Given the description of an element on the screen output the (x, y) to click on. 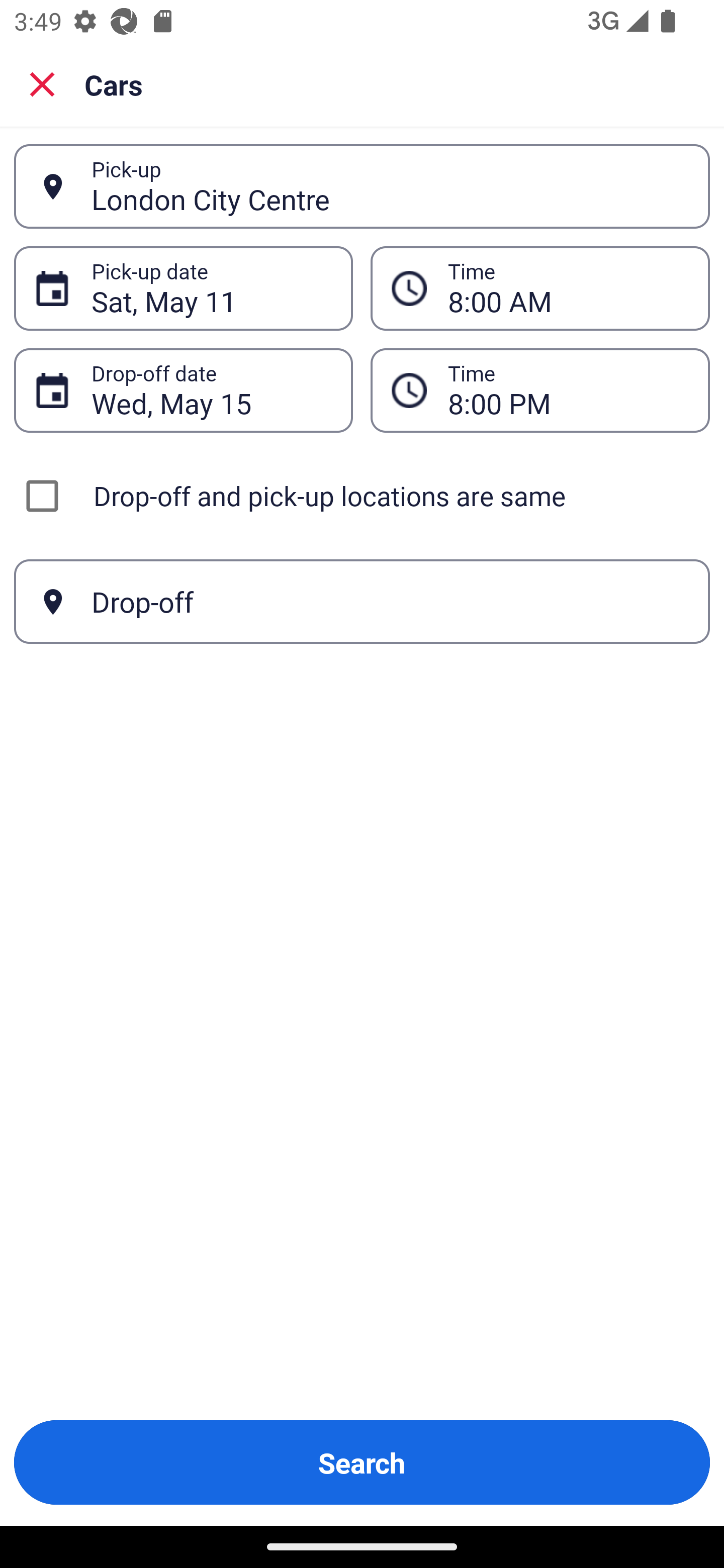
Close search screen (41, 83)
London City Centre Pick-up (361, 186)
London City Centre (389, 186)
Sat, May 11 Pick-up date (183, 288)
8:00 AM (540, 288)
Sat, May 11 (211, 288)
8:00 AM (568, 288)
Wed, May 15 Drop-off date (183, 390)
8:00 PM (540, 390)
Wed, May 15 (211, 390)
8:00 PM (568, 390)
Drop-off and pick-up locations are same (361, 495)
Drop-off (361, 601)
Search Button Search (361, 1462)
